Given the description of an element on the screen output the (x, y) to click on. 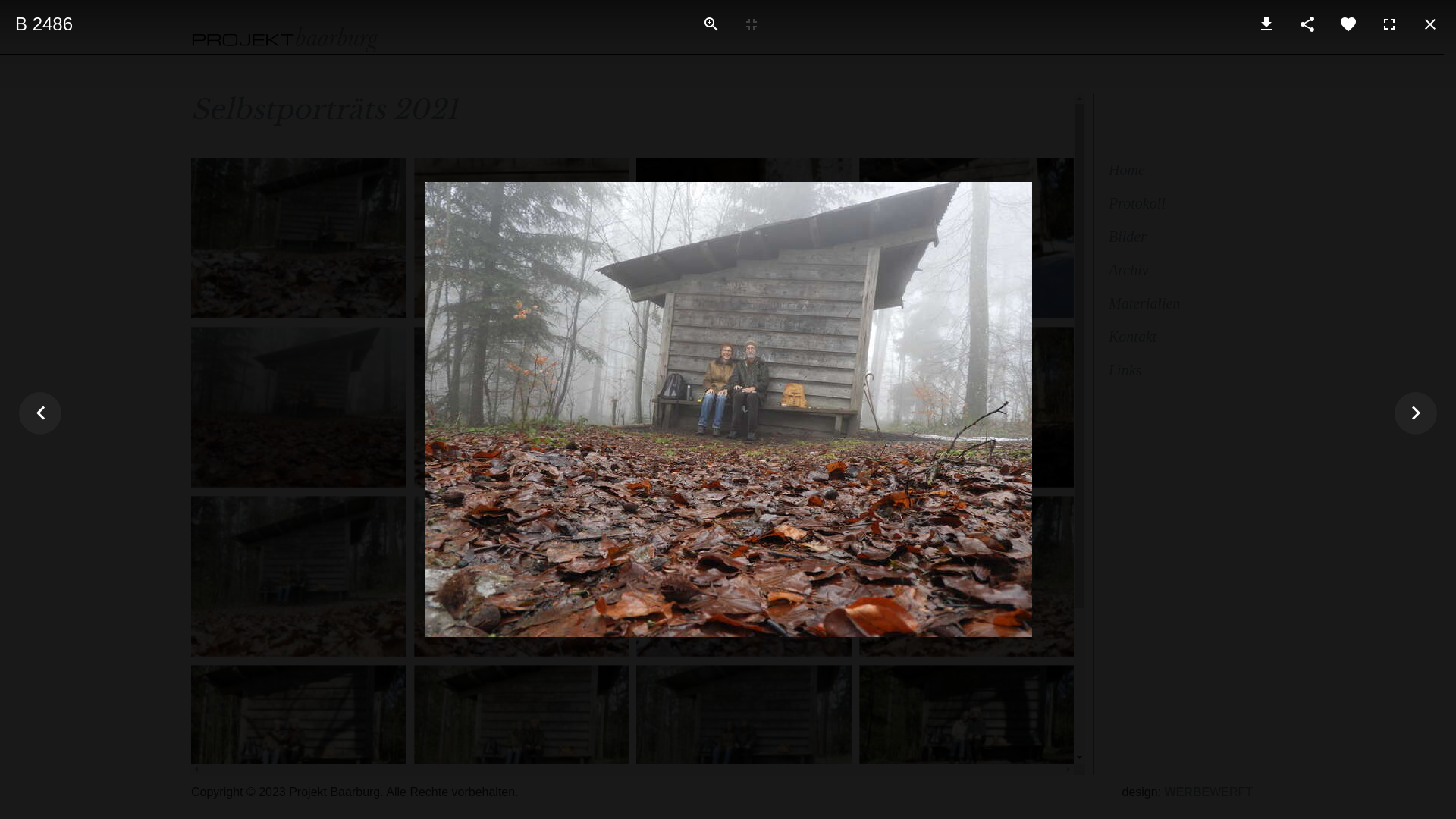
Kontakt Element type: text (1176, 336)
Archiv Element type: text (1176, 269)
WERBEWERFT Element type: text (1208, 791)
Home Element type: text (1176, 169)
Materialien Element type: text (1176, 303)
Bilder Element type: text (1176, 236)
Links Element type: text (1176, 369)
Protokoll Element type: text (1176, 202)
